Given the description of an element on the screen output the (x, y) to click on. 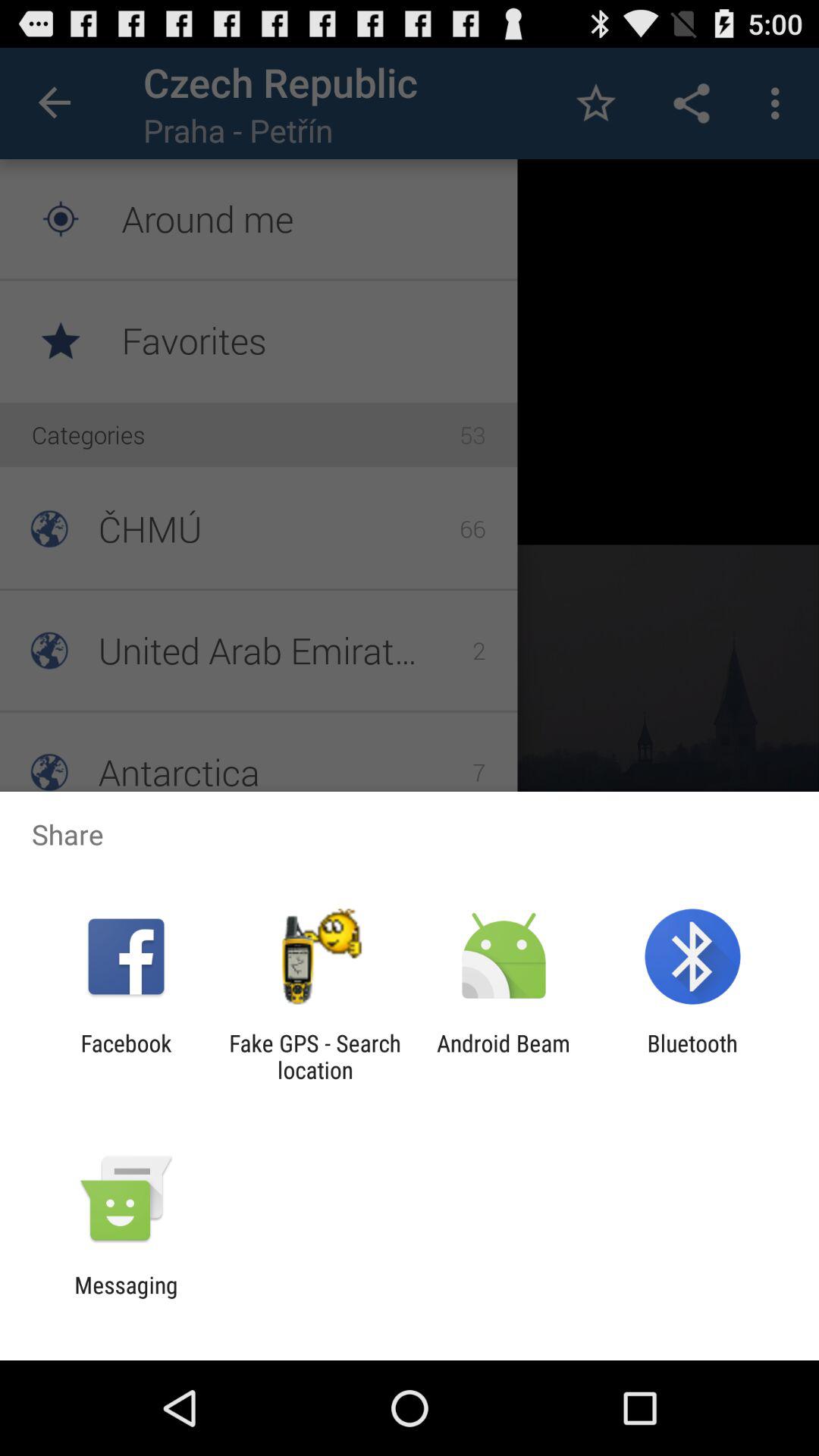
select item next to fake gps search (125, 1056)
